Given the description of an element on the screen output the (x, y) to click on. 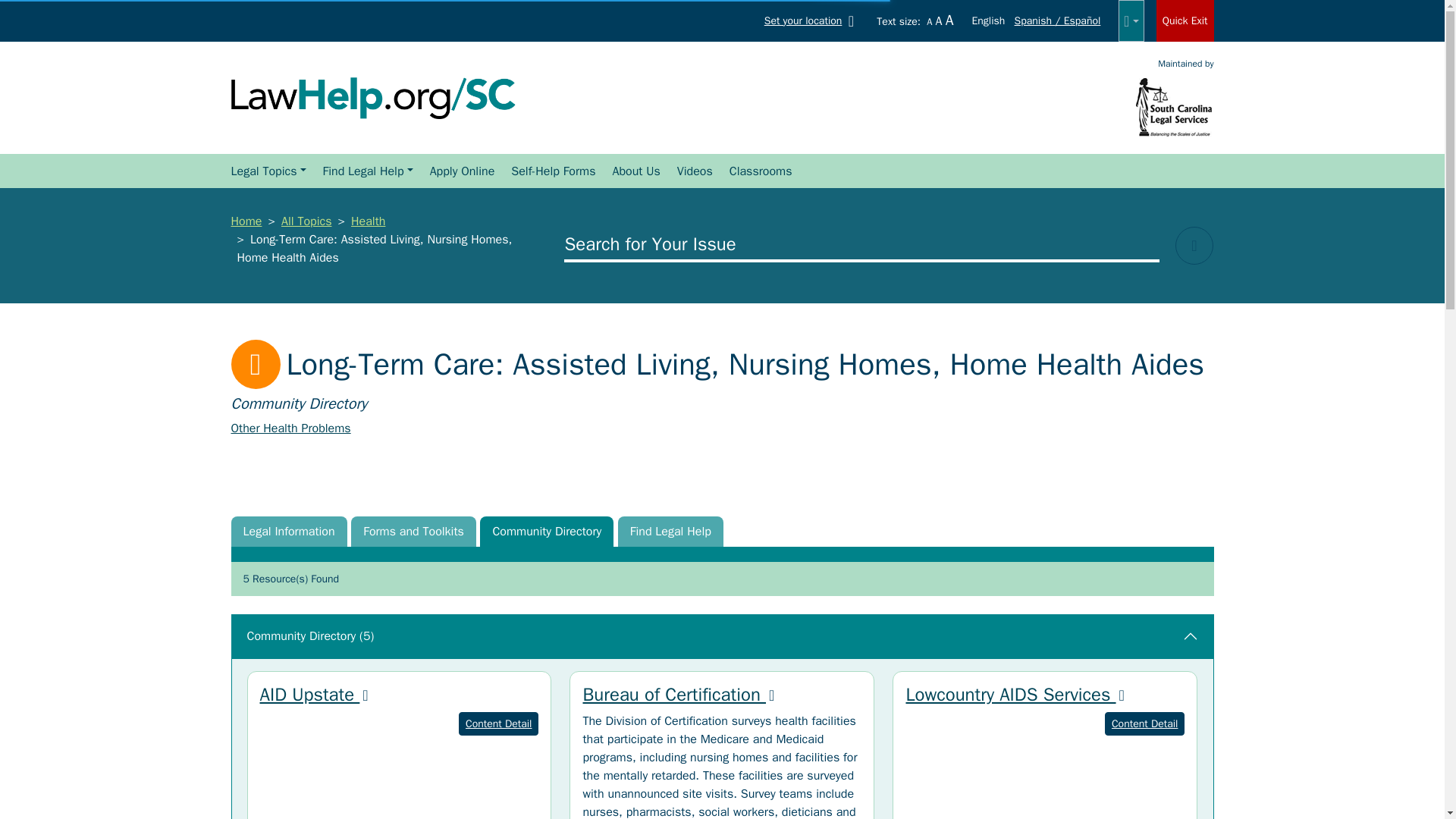
Quick Exit (1184, 20)
Legal Topics (267, 171)
Forms and Toolkits (413, 531)
Community Directory (546, 531)
Set your location (812, 20)
Set your location (812, 20)
South Carolina Legal Services (1174, 106)
Legal Information (288, 531)
